Given the description of an element on the screen output the (x, y) to click on. 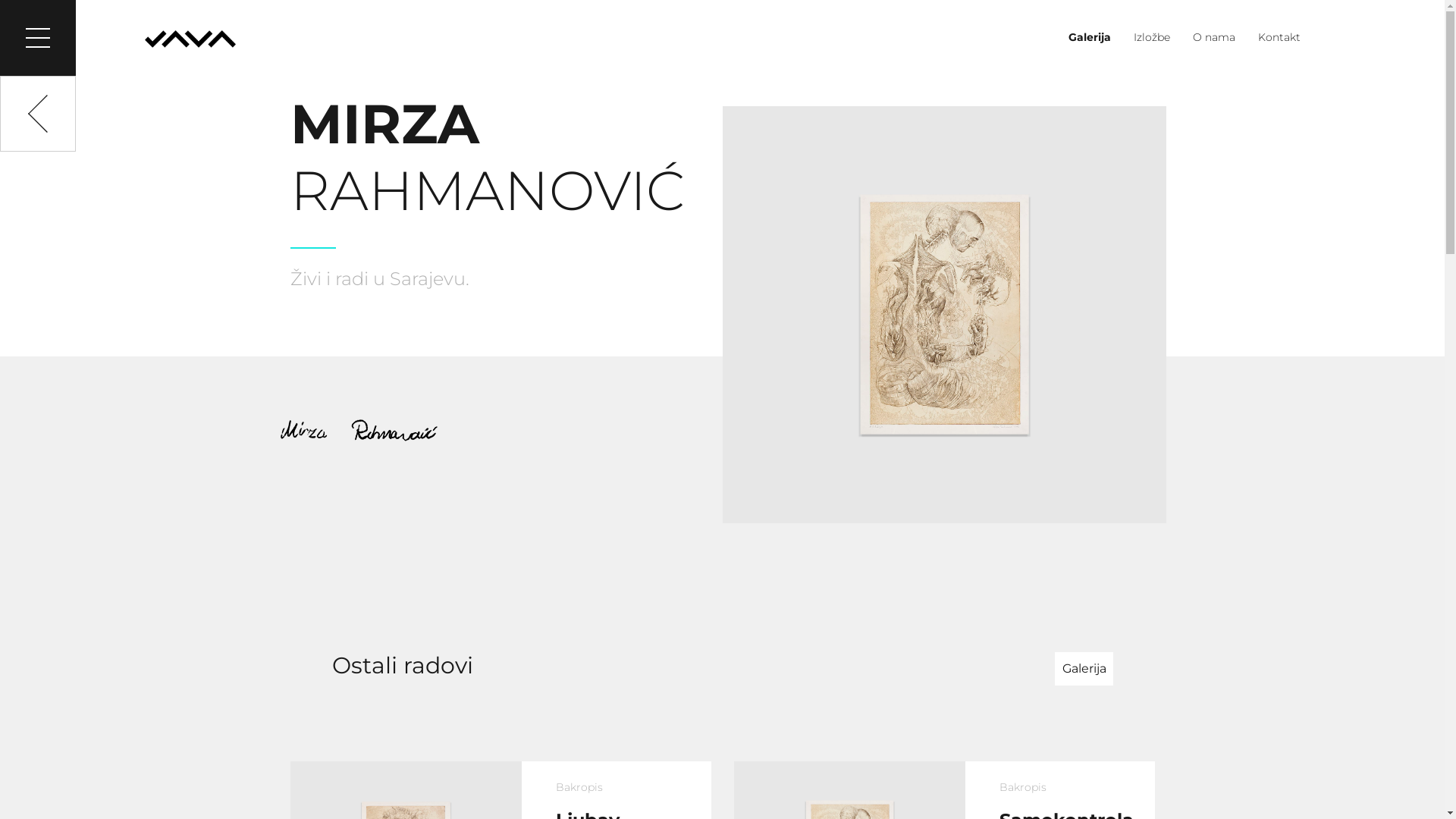
Galerija Element type: text (1083, 668)
Galerija Element type: text (1089, 36)
O nama Element type: text (1213, 36)
Kontakt Element type: text (1273, 36)
